Given the description of an element on the screen output the (x, y) to click on. 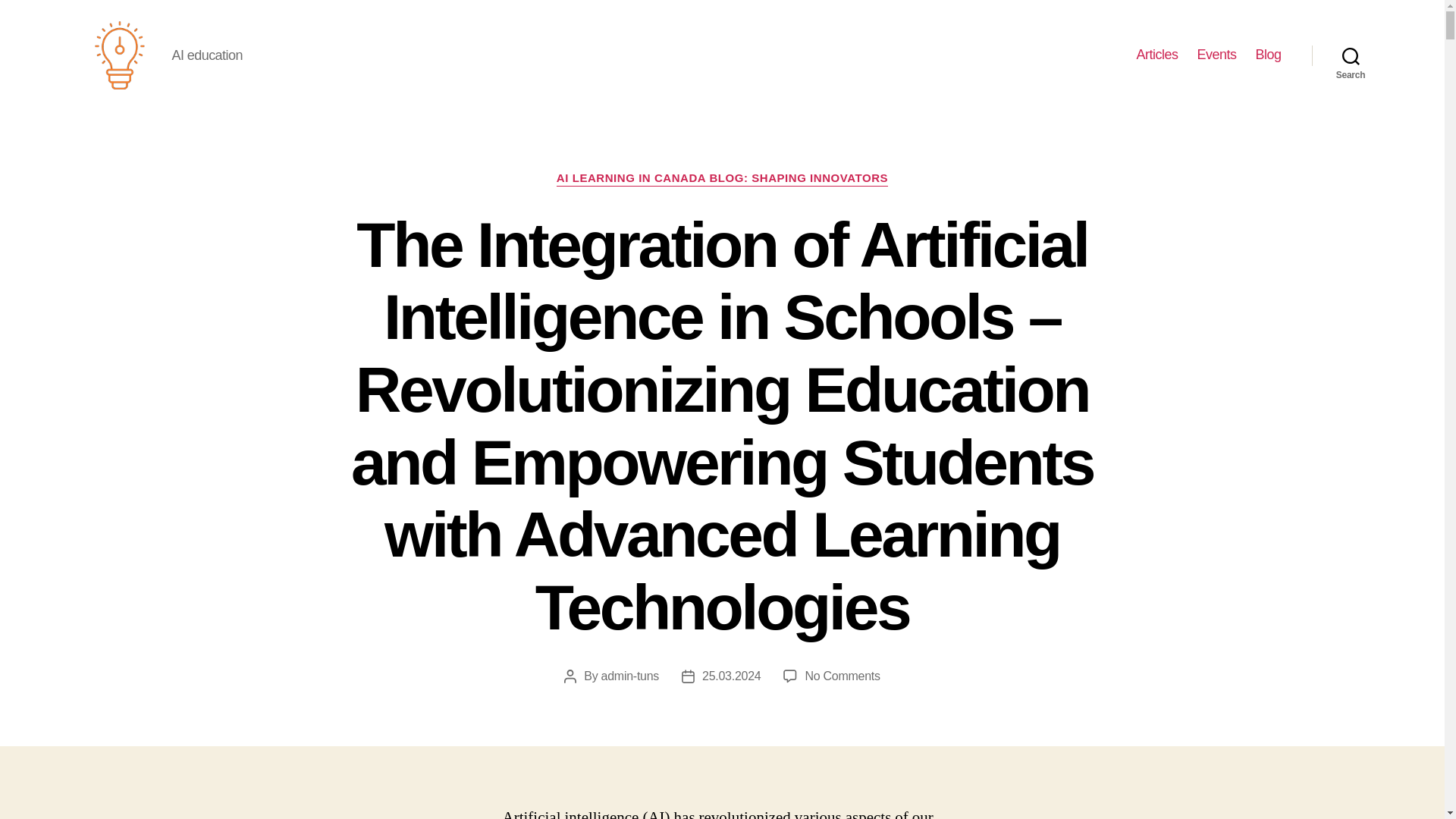
Search (1350, 55)
admin-tuns (630, 675)
Events (1216, 54)
25.03.2024 (730, 675)
AI LEARNING IN CANADA BLOG: SHAPING INNOVATORS (722, 178)
Blog (1268, 54)
Articles (1156, 54)
